Given the description of an element on the screen output the (x, y) to click on. 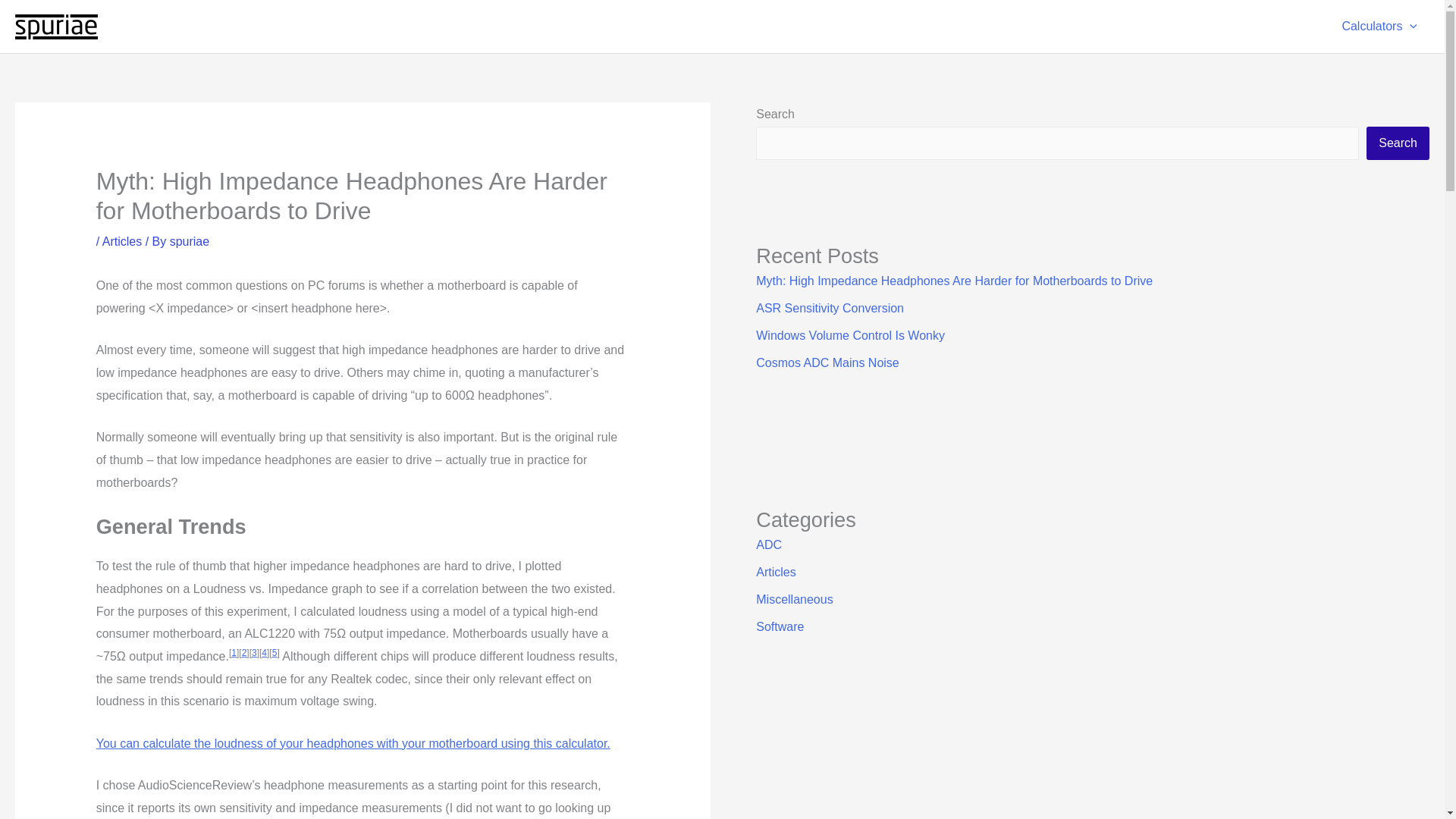
1 (233, 652)
Cosmos ADC Mains Noise (827, 362)
4 (264, 652)
Articles (121, 241)
Calculators (1379, 26)
Search (1398, 142)
Articles (774, 571)
5 (275, 652)
ADC (768, 544)
View all posts by spuriae (189, 241)
3 (254, 652)
Software (779, 626)
2 (244, 652)
spuriae (189, 241)
ASR Sensitivity Conversion (829, 308)
